Given the description of an element on the screen output the (x, y) to click on. 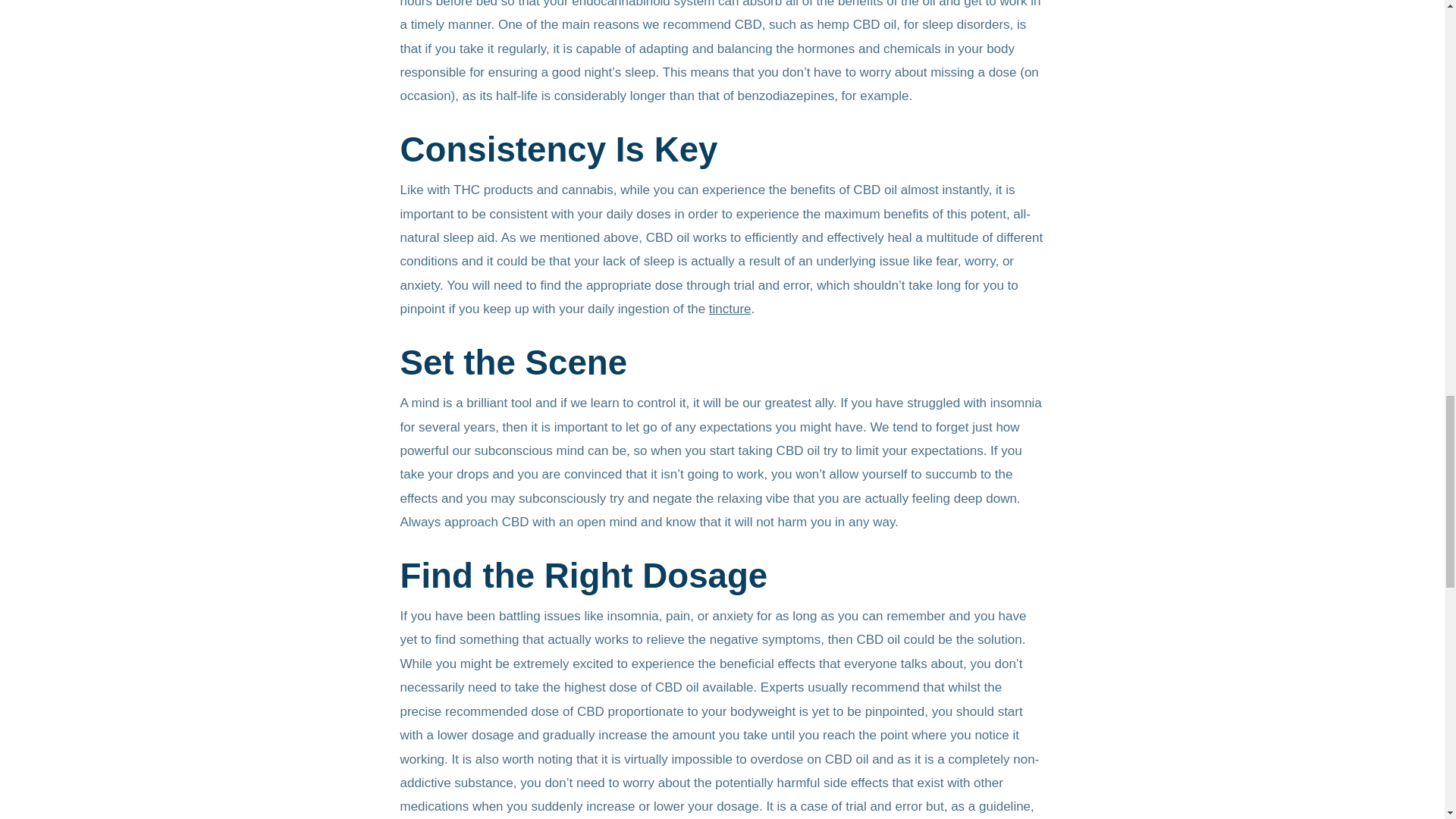
tincture (730, 309)
